Given the description of an element on the screen output the (x, y) to click on. 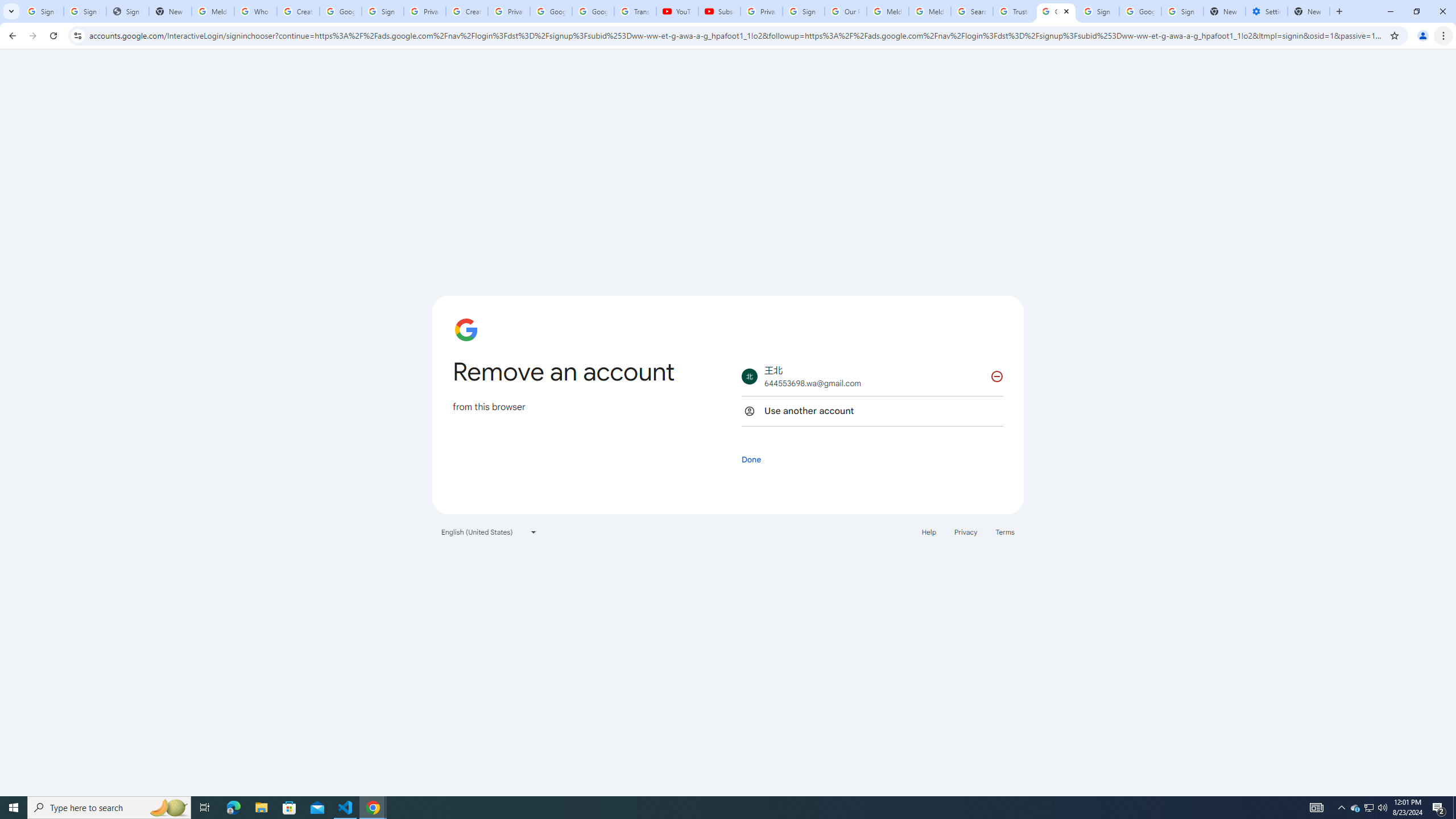
Sign in - Google Accounts (85, 11)
New Tab (1308, 11)
Search our Doodle Library Collection - Google Doodles (972, 11)
Sign in - Google Accounts (382, 11)
Trusted Information and Content - Google Safety Center (1013, 11)
Create your Google Account (467, 11)
